Given the description of an element on the screen output the (x, y) to click on. 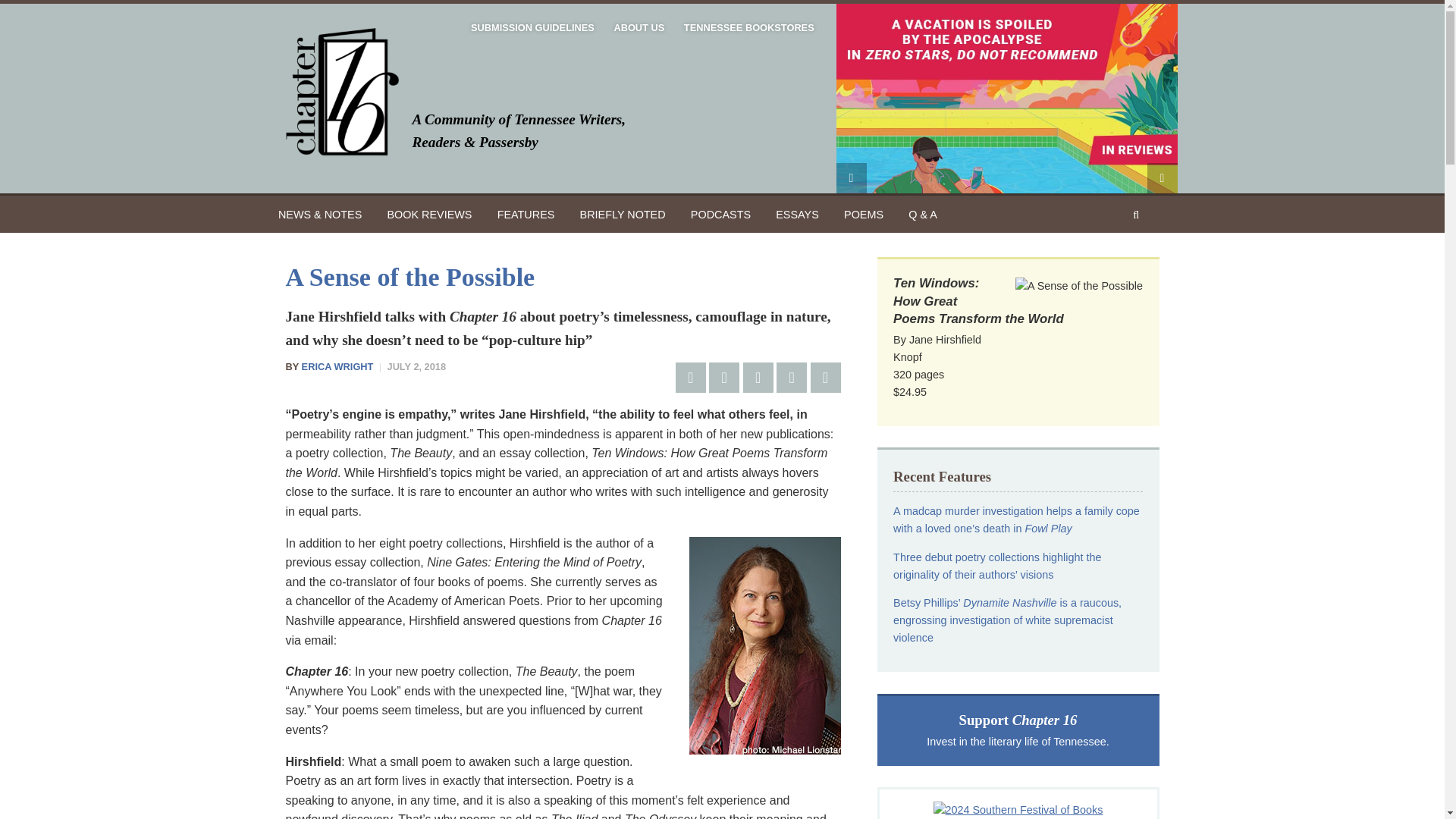
PODCASTS (720, 214)
SEARCH (1040, 176)
ESSAYS (797, 214)
ABOUT US (639, 27)
Email (791, 377)
Share on Facebook (690, 377)
Print (824, 377)
SUBMISSION GUIDELINES (532, 27)
POEMS (863, 214)
ERICA WRIGHT (337, 366)
TENNESSEE BOOKSTORES (749, 27)
FEATURES (525, 214)
BOOK REVIEWS (429, 214)
BRIEFLY NOTED (623, 214)
Tweet (724, 377)
